Given the description of an element on the screen output the (x, y) to click on. 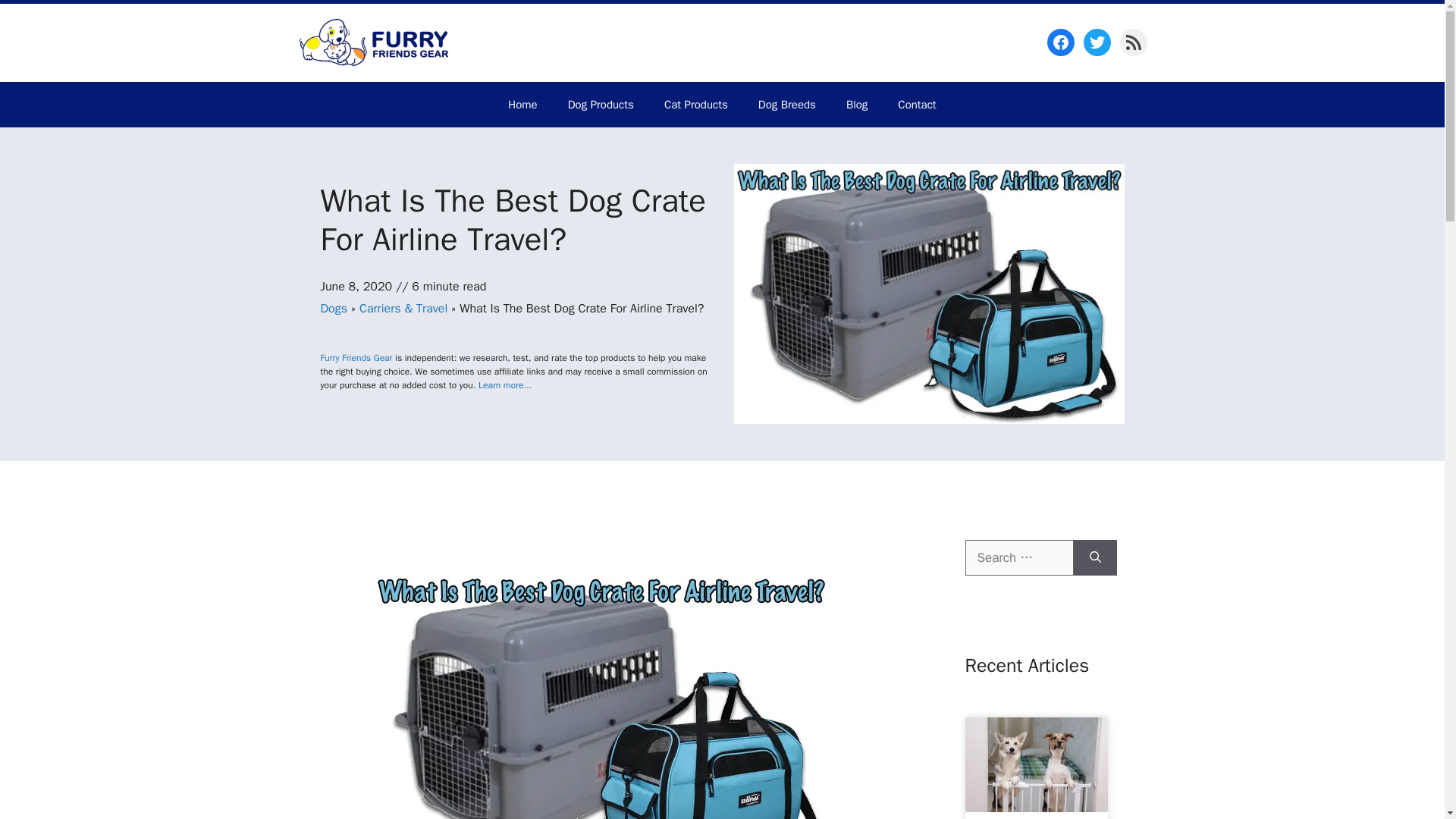
Contact (916, 104)
Home (522, 104)
RSS Feed (1133, 42)
Dogs (333, 308)
Dog Products (601, 104)
Search for: (1018, 557)
Twitter (1096, 42)
Cat Products (695, 104)
Blog (856, 104)
